Given the description of an element on the screen output the (x, y) to click on. 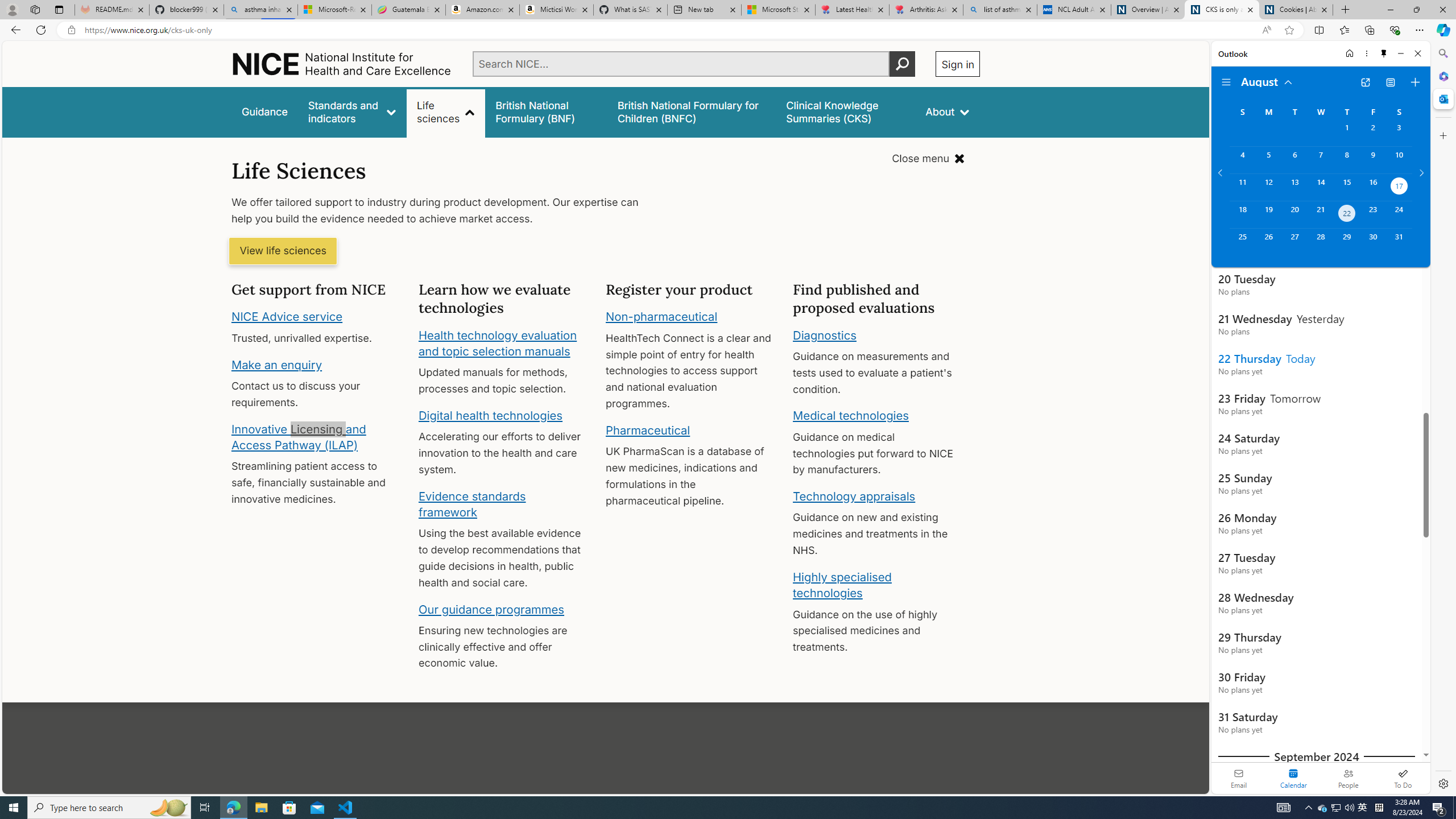
People (1347, 777)
Sunday, August 18, 2024.  (1242, 214)
Saturday, August 31, 2024.  (1399, 241)
Sunday, August 11, 2024.  (1242, 186)
Close Customize pane (1442, 135)
CKS is only available in the UK | NICE (1221, 9)
Saturday, August 24, 2024.  (1399, 214)
